Given the description of an element on the screen output the (x, y) to click on. 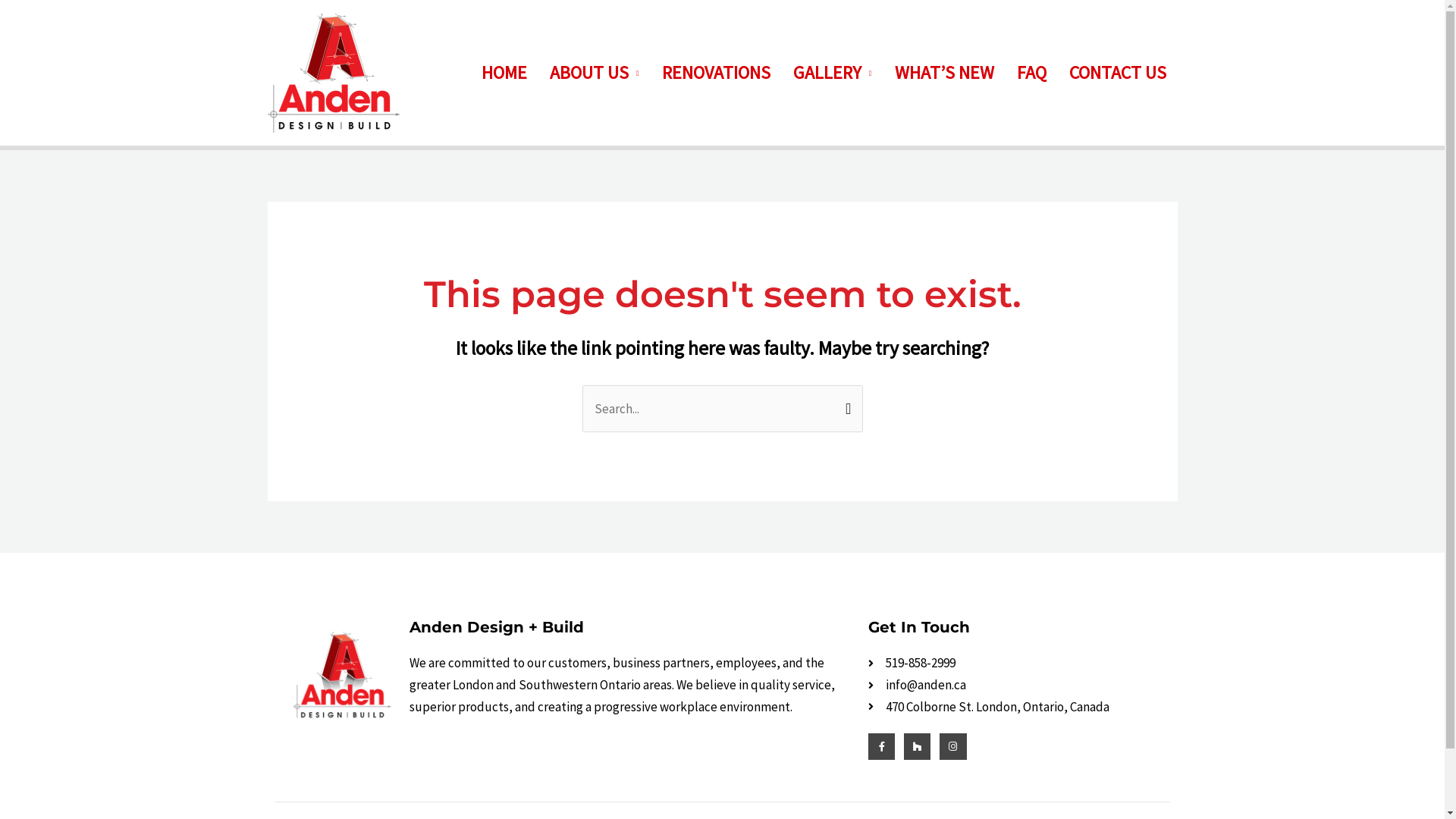
Houzz Element type: text (916, 746)
GALLERY Element type: text (832, 72)
470 Colborne St. London, Ontario, Canada Element type: text (1017, 707)
CONTACT US Element type: text (1116, 72)
Instagram Element type: text (952, 746)
FAQ Element type: text (1031, 72)
RENOVATIONS Element type: text (715, 72)
info@anden.ca Element type: text (1017, 685)
Facebook-f Element type: text (881, 746)
ABOUT US Element type: text (594, 72)
519-858-2999 Element type: text (1017, 663)
Search Element type: text (845, 400)
HOME Element type: text (504, 72)
